Given the description of an element on the screen output the (x, y) to click on. 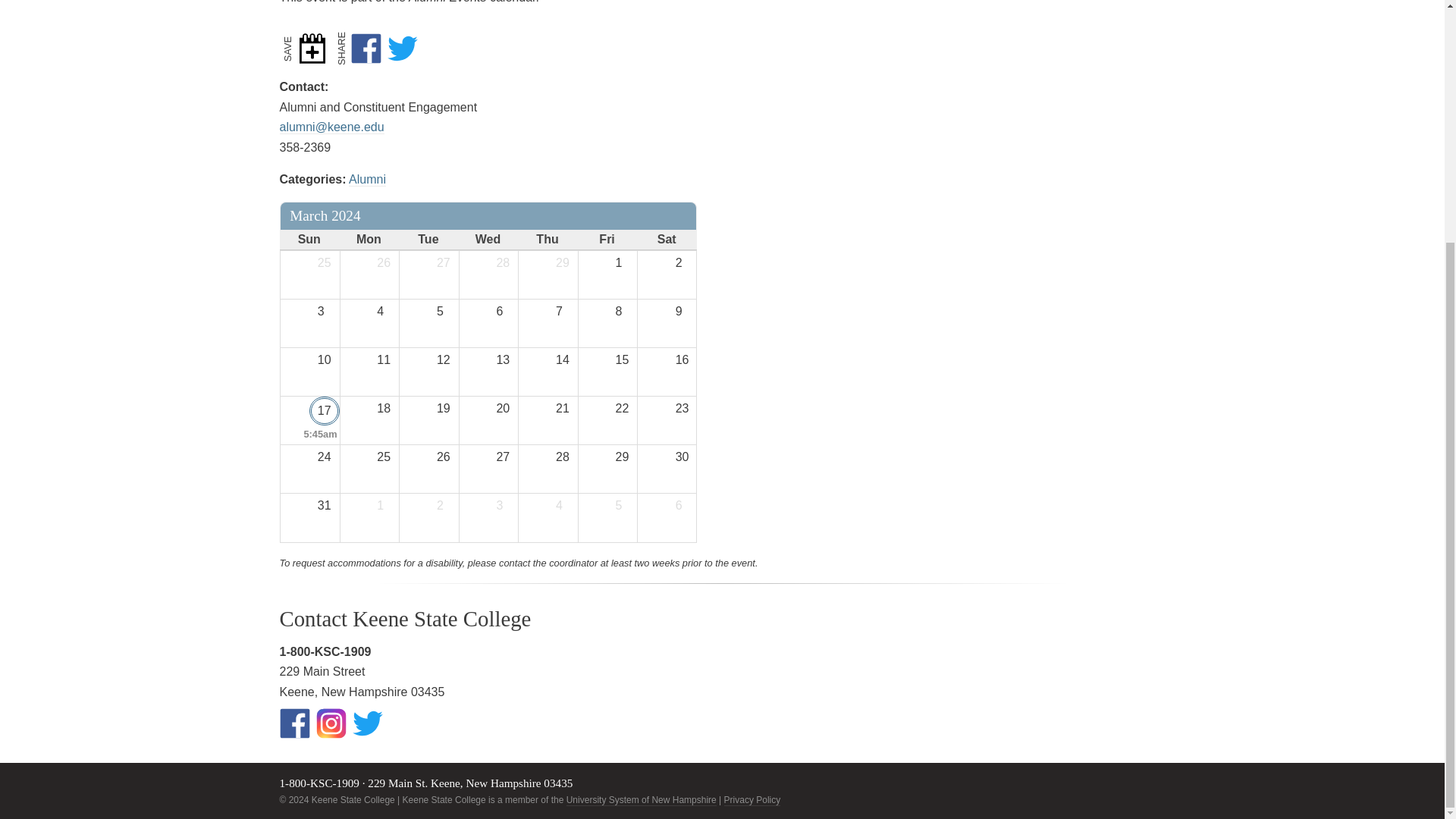
Tue (427, 239)
Tue (428, 239)
5 (444, 311)
Alumni (367, 179)
3 (325, 311)
14 (564, 360)
Thu (548, 239)
6 (503, 311)
9 (683, 311)
